Given the description of an element on the screen output the (x, y) to click on. 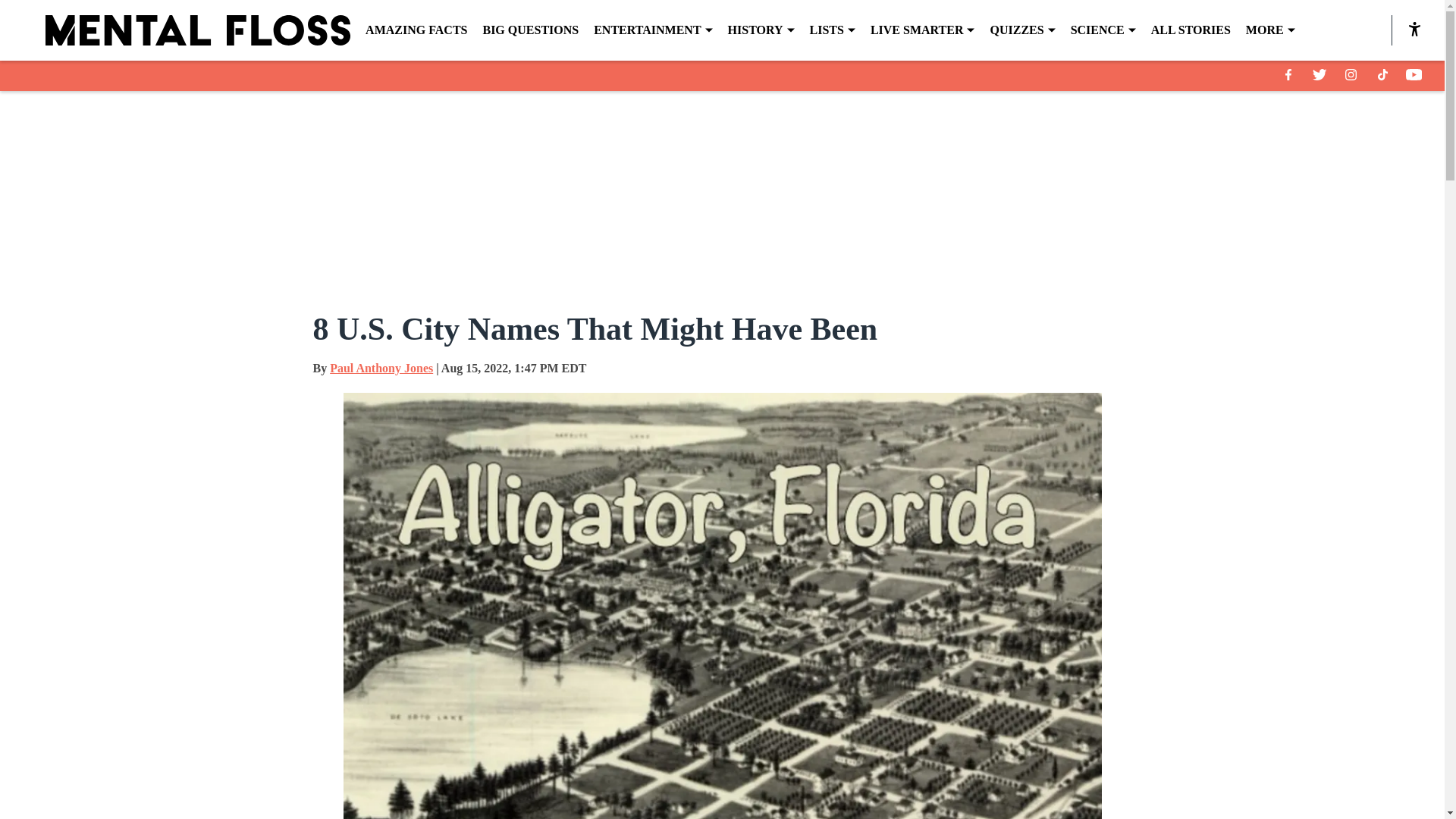
BIG QUESTIONS (529, 30)
MORE (1270, 30)
AMAZING FACTS (416, 30)
ALL STORIES (1190, 30)
